Given the description of an element on the screen output the (x, y) to click on. 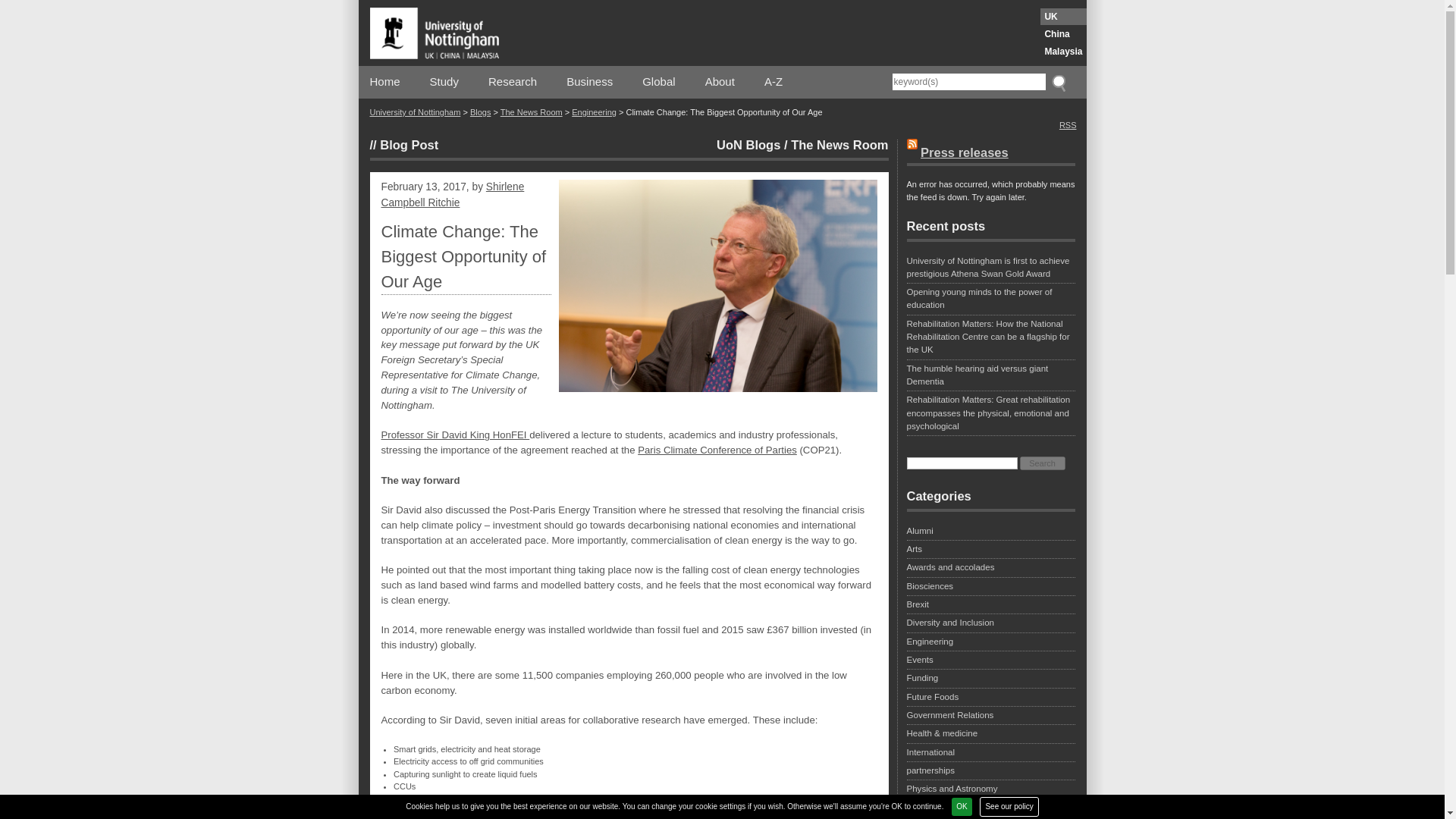
Study (443, 81)
About (719, 81)
Shirlene Campbell Ritchie (452, 194)
Blogs (481, 112)
China (1063, 33)
Professor Sir David King HonFEI (454, 434)
Business (589, 81)
See our policy (1008, 806)
The News Room (839, 144)
OK (961, 806)
A-Z (773, 81)
Paris Climate Conference of Parties (716, 449)
Malaysia (1063, 51)
University of Nottingham (415, 112)
Search (1042, 463)
